Given the description of an element on the screen output the (x, y) to click on. 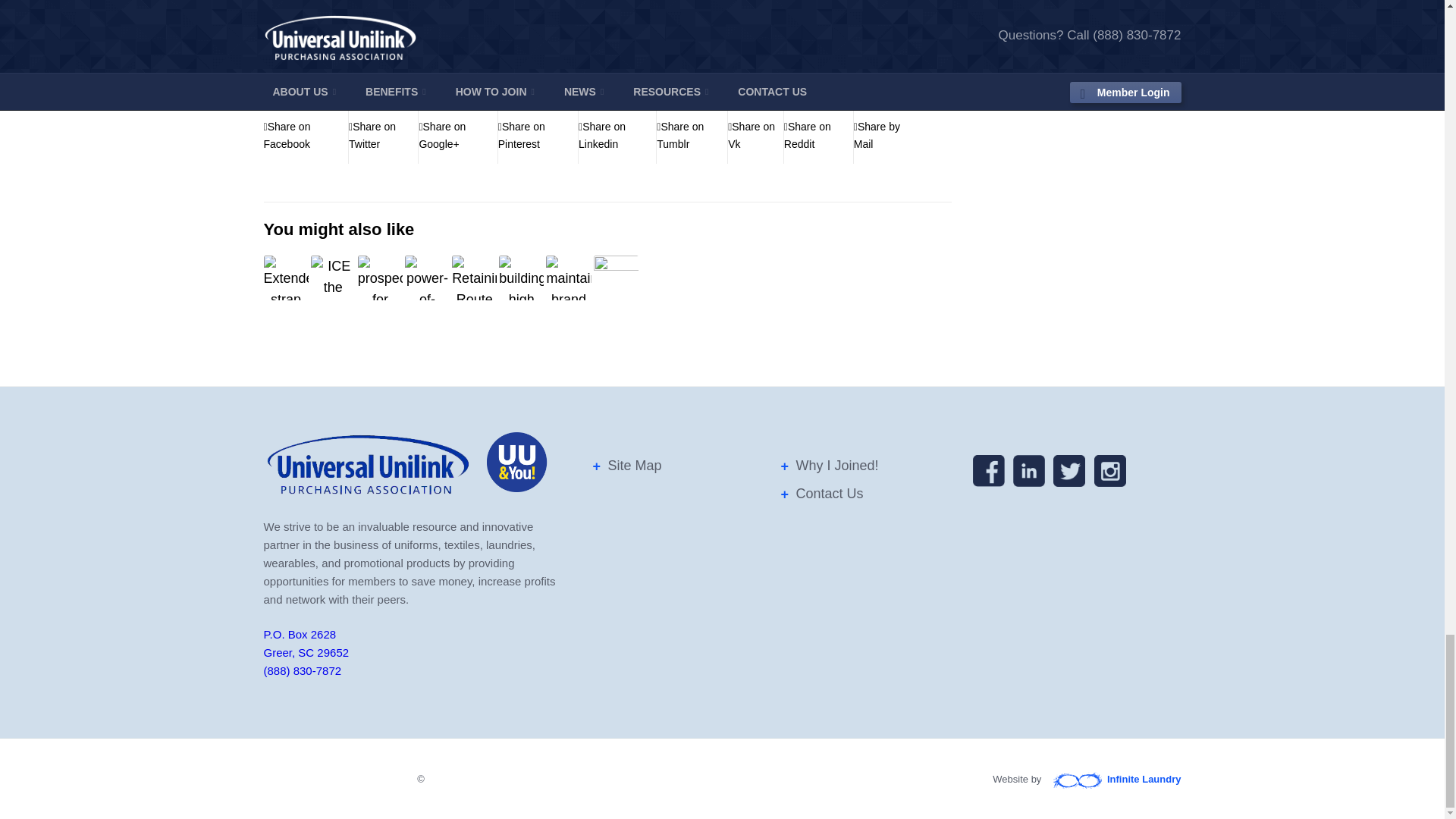
Share on Twitter (383, 135)
Share on Facebook (306, 135)
Share on Tumblr (691, 135)
Share on Pinterest (537, 135)
Share on Linkedin (617, 135)
Share on Vk (755, 135)
